Given the description of an element on the screen output the (x, y) to click on. 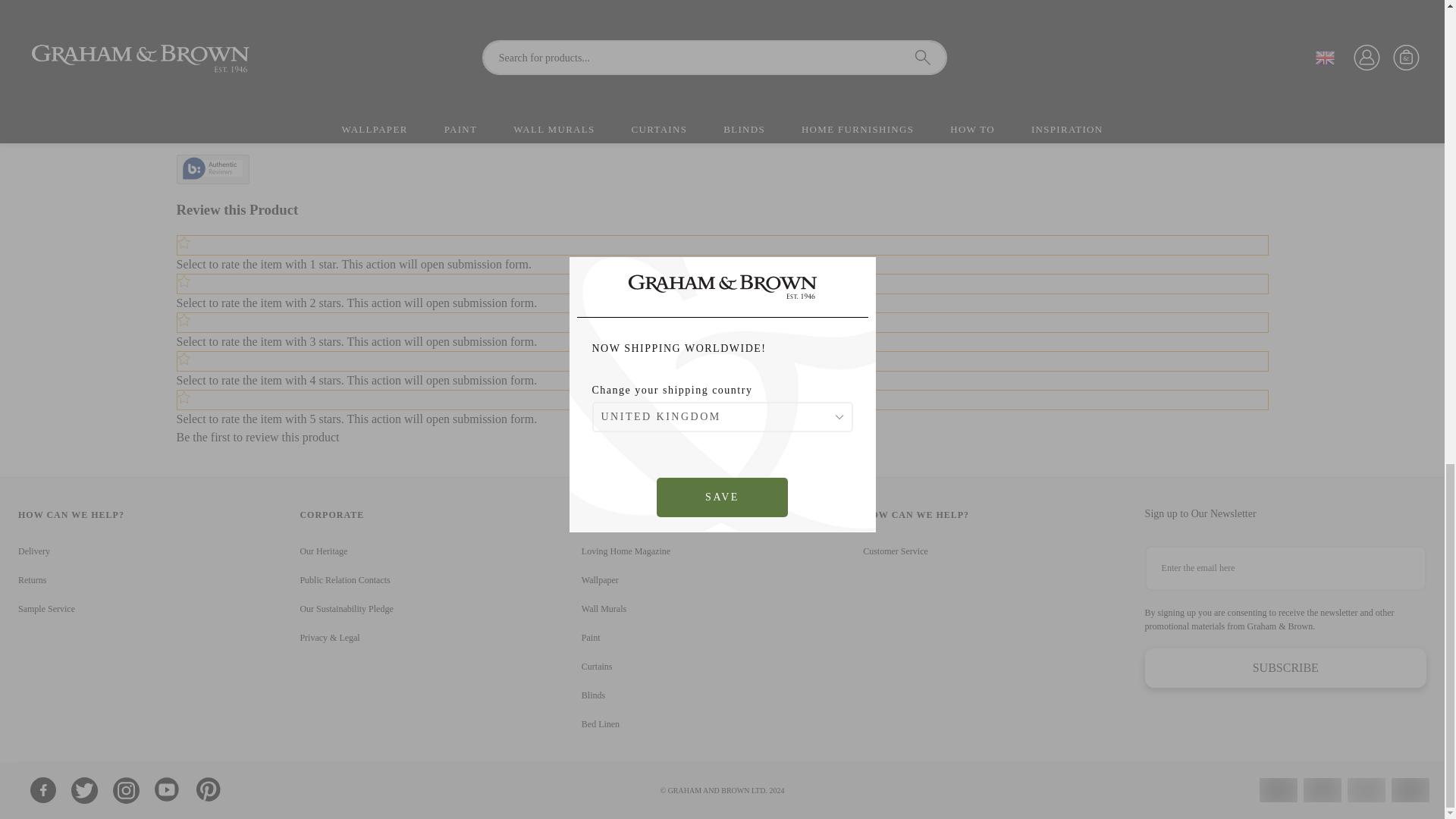
Our Sustainability Pledge (346, 608)
Returns (31, 579)
Our Heritage (323, 551)
Paint (589, 637)
Sunset Shores Framed Wall Art (328, 36)
Sunset Shores Framed Wall Art (641, 36)
Loving Home Magazine (624, 551)
Delivery (33, 551)
Public Relation Contacts (344, 579)
Wall Murals (603, 608)
Wallpaper (599, 579)
Sample Service (46, 608)
